Given the description of an element on the screen output the (x, y) to click on. 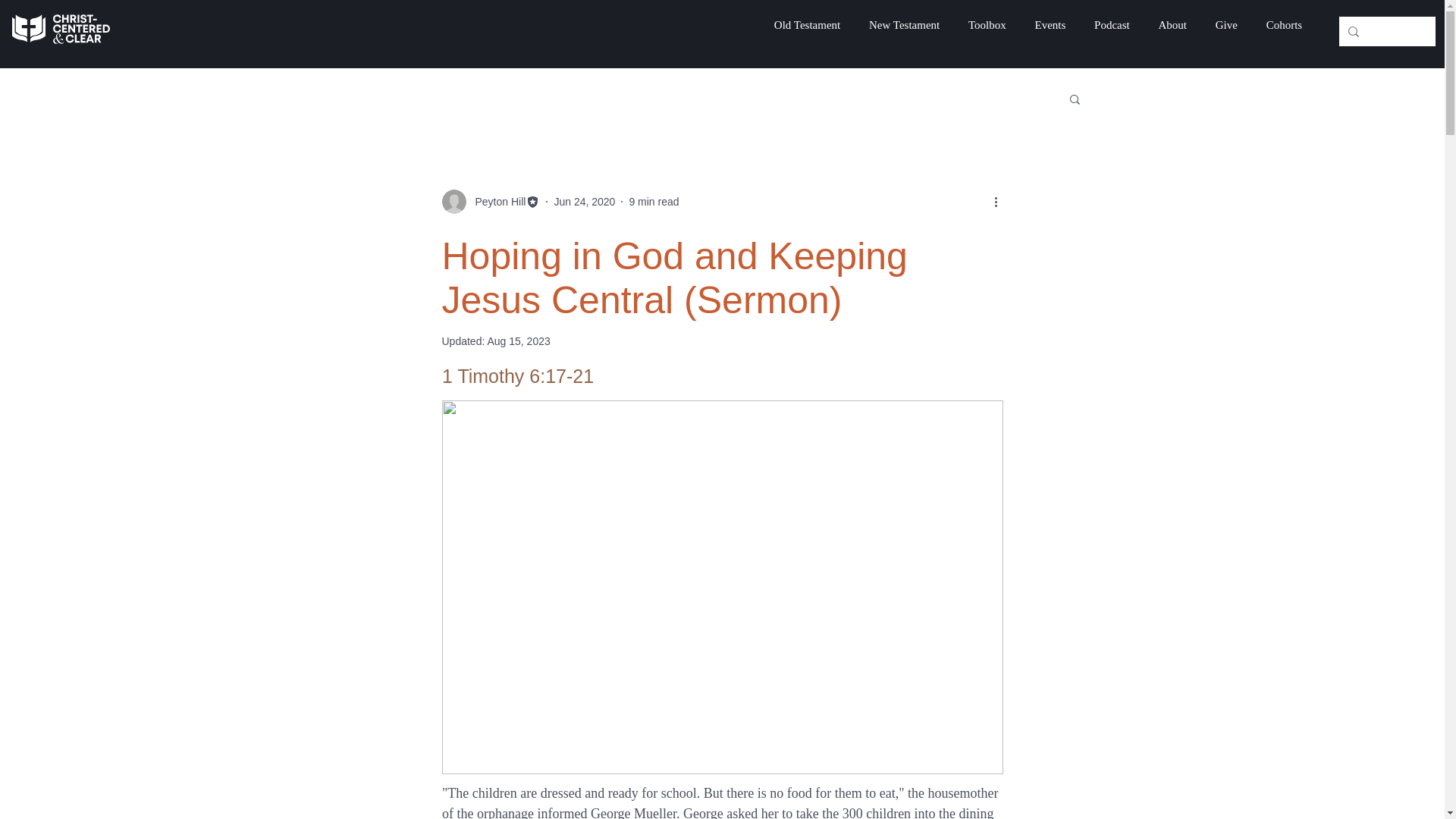
9 min read (653, 201)
Jun 24, 2020 (583, 201)
Cohorts (1283, 25)
Aug 15, 2023 (518, 340)
About (1172, 25)
Old Testament (807, 25)
Podcast (1111, 25)
Give (1226, 25)
Peyton Hill (495, 201)
New Testament (904, 25)
